Given the description of an element on the screen output the (x, y) to click on. 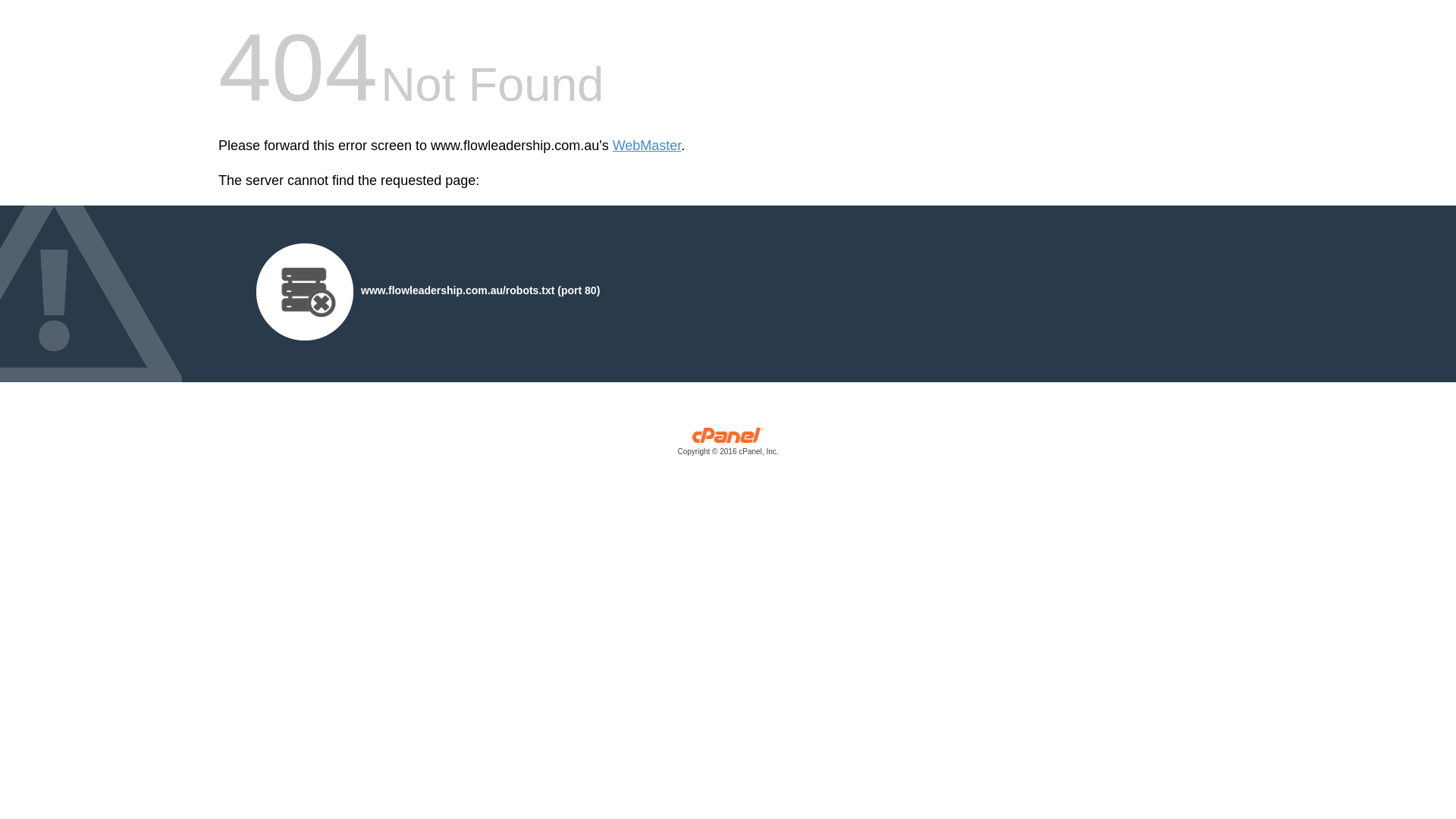
WebMaster Element type: text (646, 145)
